Given the description of an element on the screen output the (x, y) to click on. 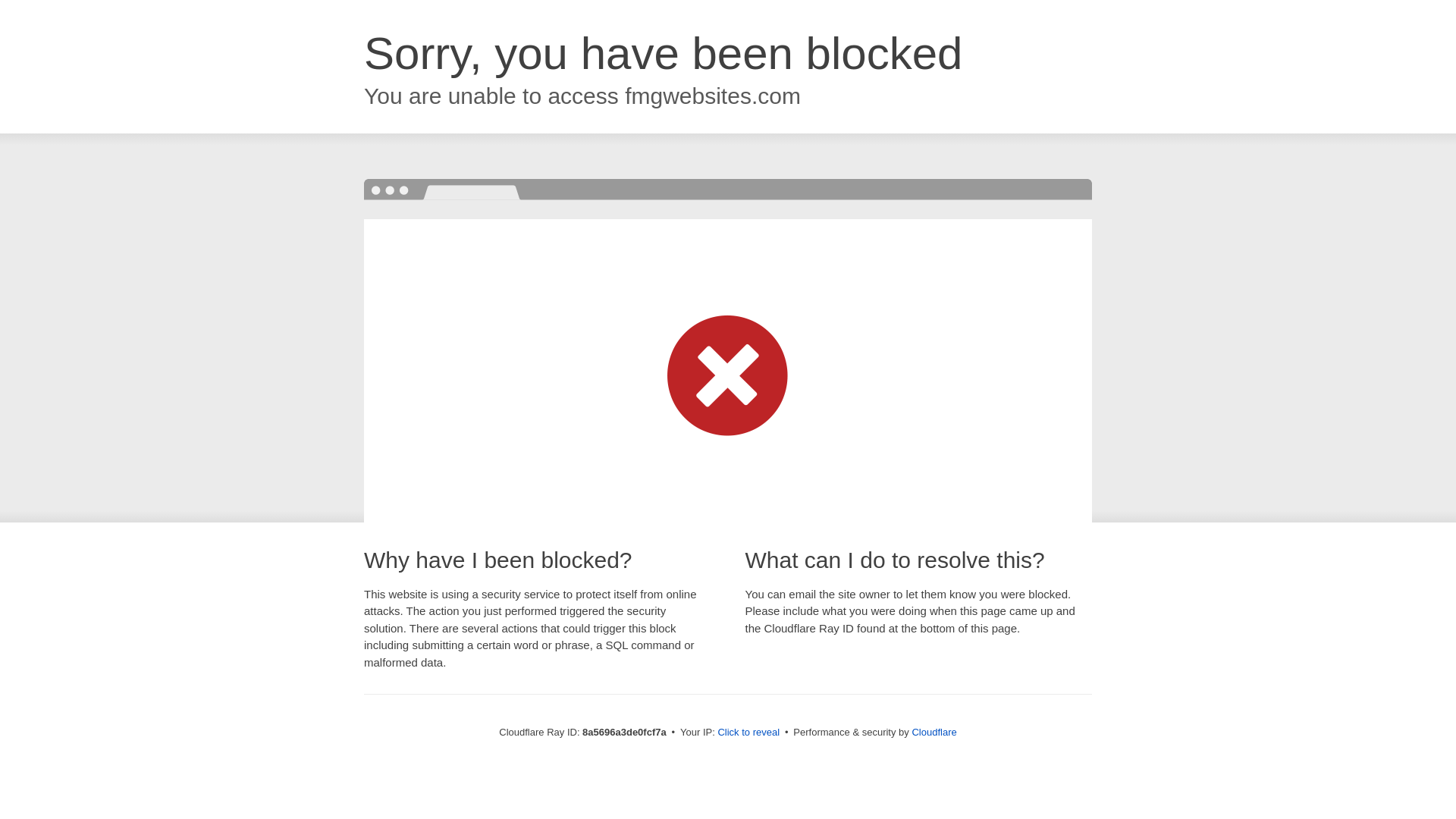
Cloudflare (933, 731)
Click to reveal (747, 732)
